Given the description of an element on the screen output the (x, y) to click on. 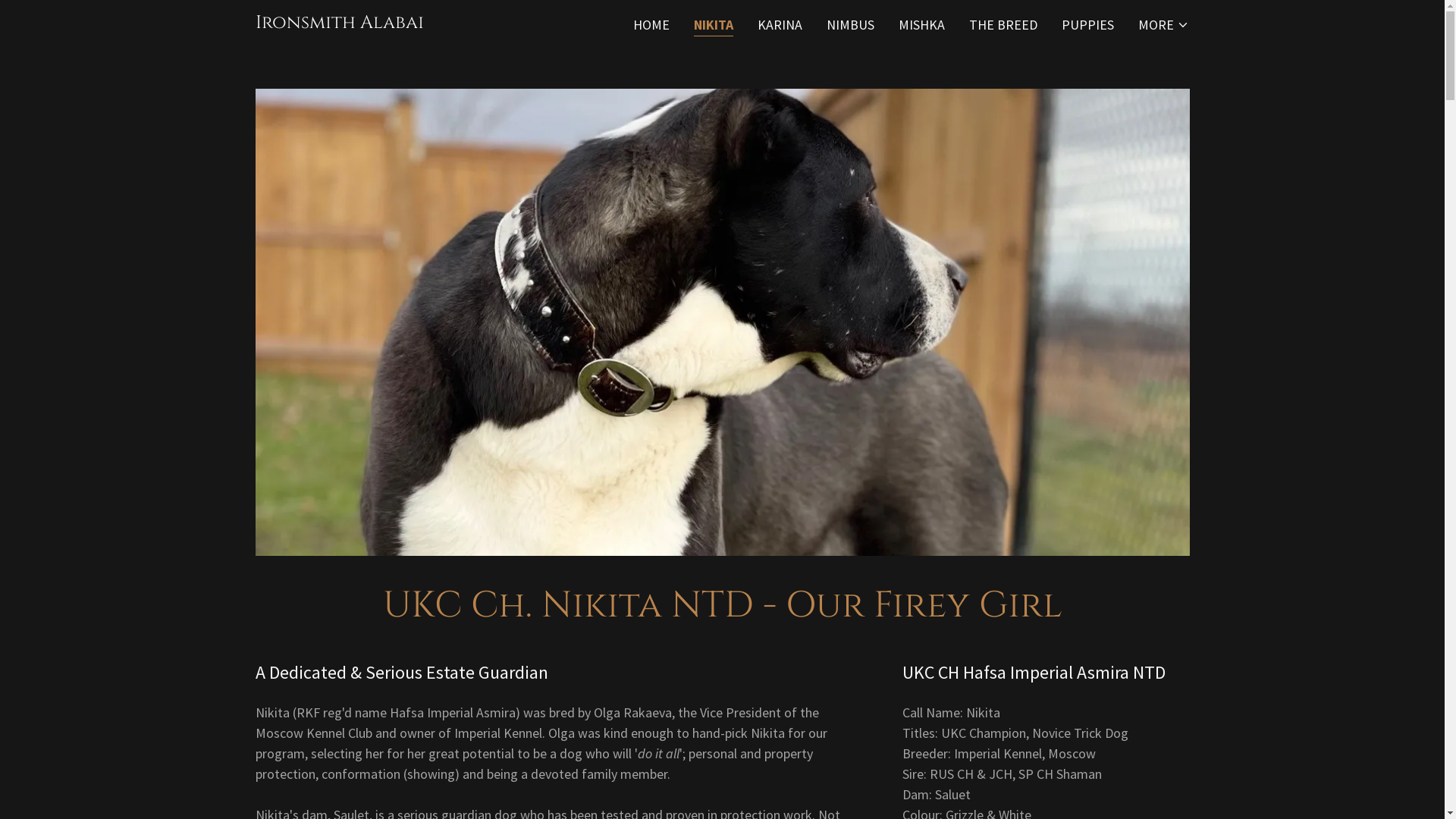
MORE Element type: text (1163, 24)
MISHKA Element type: text (921, 24)
KARINA Element type: text (779, 24)
THE BREED Element type: text (1002, 24)
Ironsmith Alabai Element type: text (338, 22)
PUPPIES Element type: text (1087, 24)
NIKITA Element type: text (713, 25)
NIMBUS Element type: text (850, 24)
HOME Element type: text (651, 24)
